Given the description of an element on the screen output the (x, y) to click on. 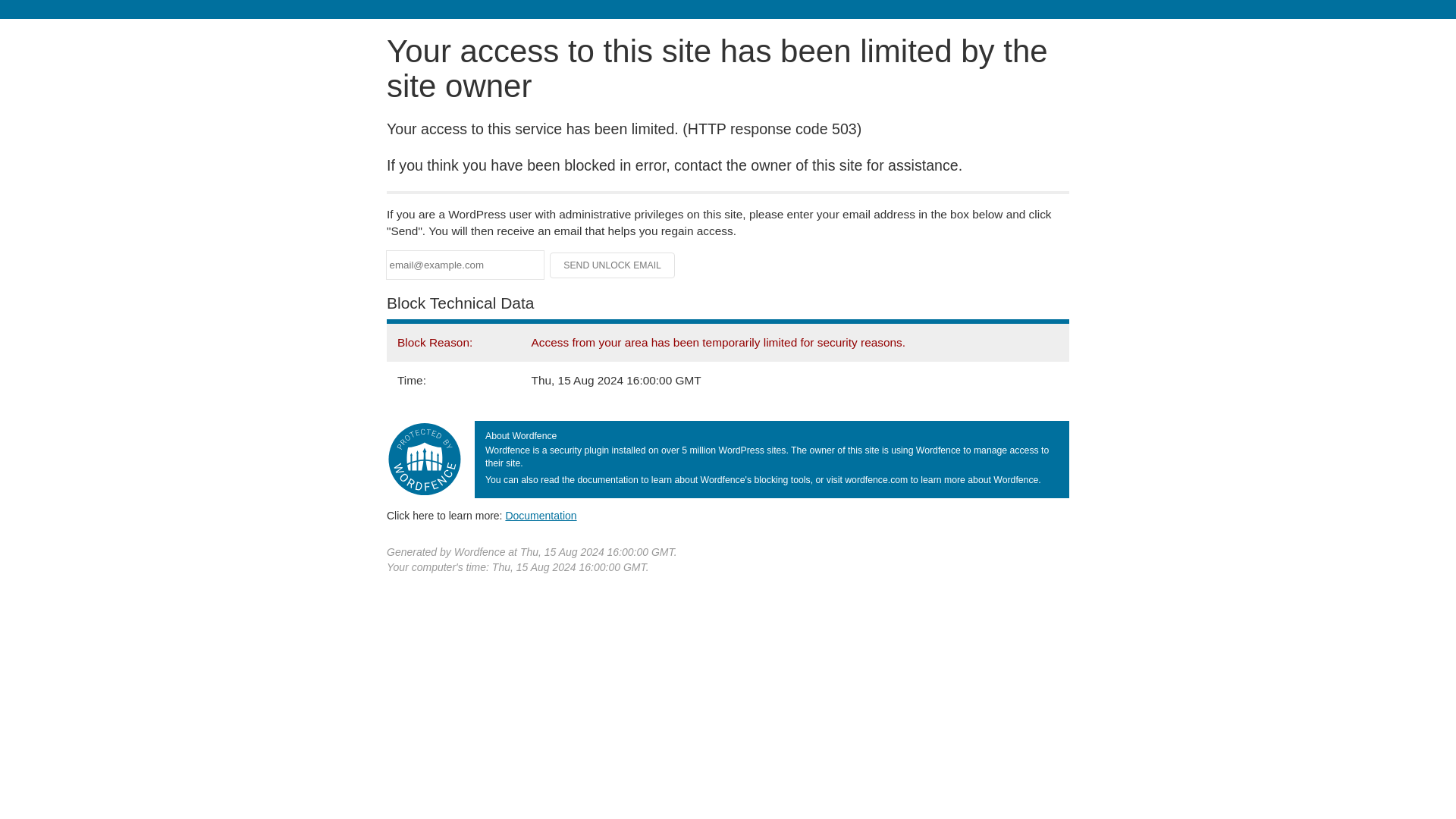
Send Unlock Email (612, 265)
Send Unlock Email (612, 265)
Documentation (540, 515)
